Given the description of an element on the screen output the (x, y) to click on. 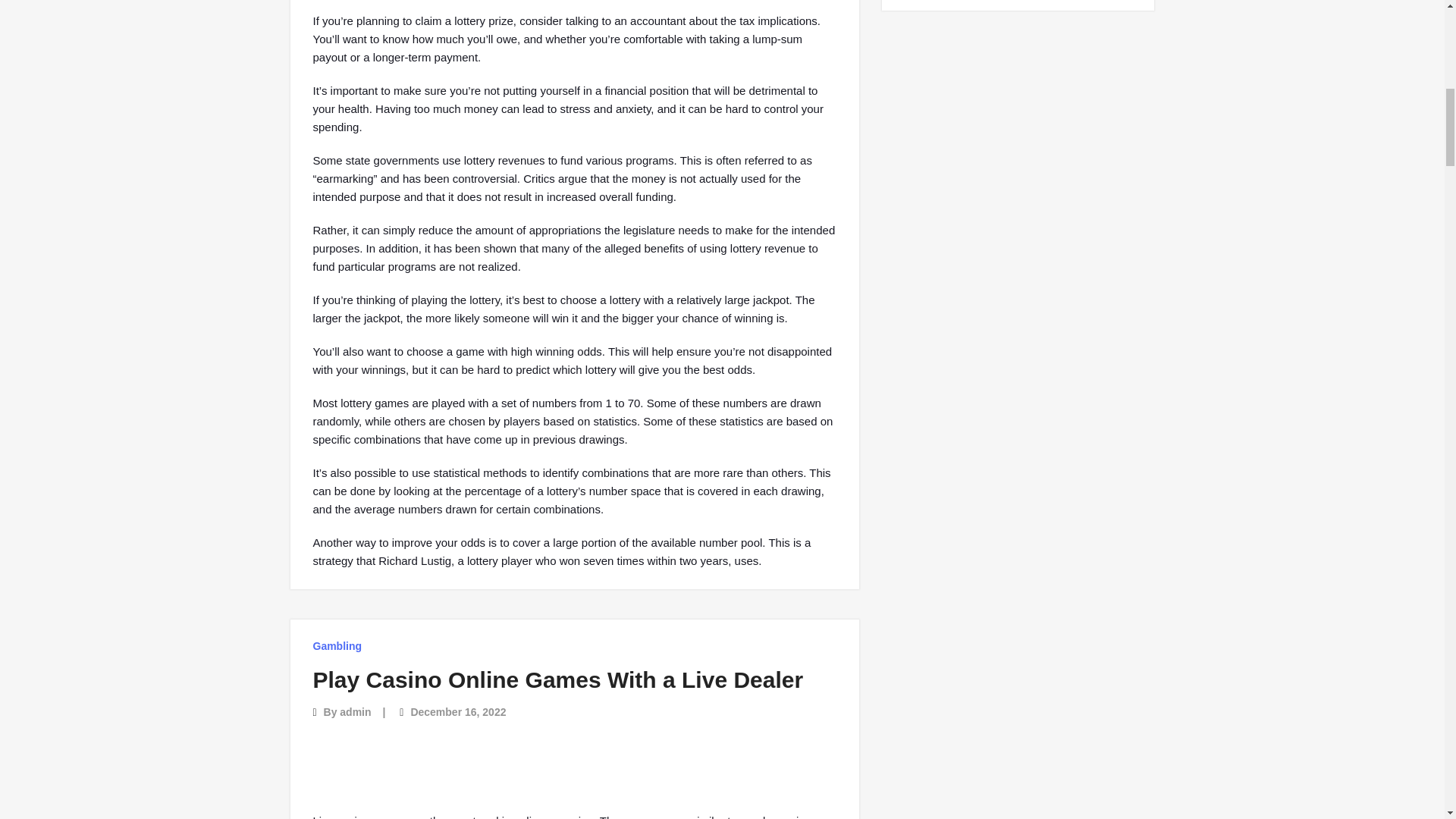
admin (355, 711)
Gambling (337, 645)
Play Casino Online Games With a Live Dealer (558, 679)
December 16, 2022 (457, 711)
